Given the description of an element on the screen output the (x, y) to click on. 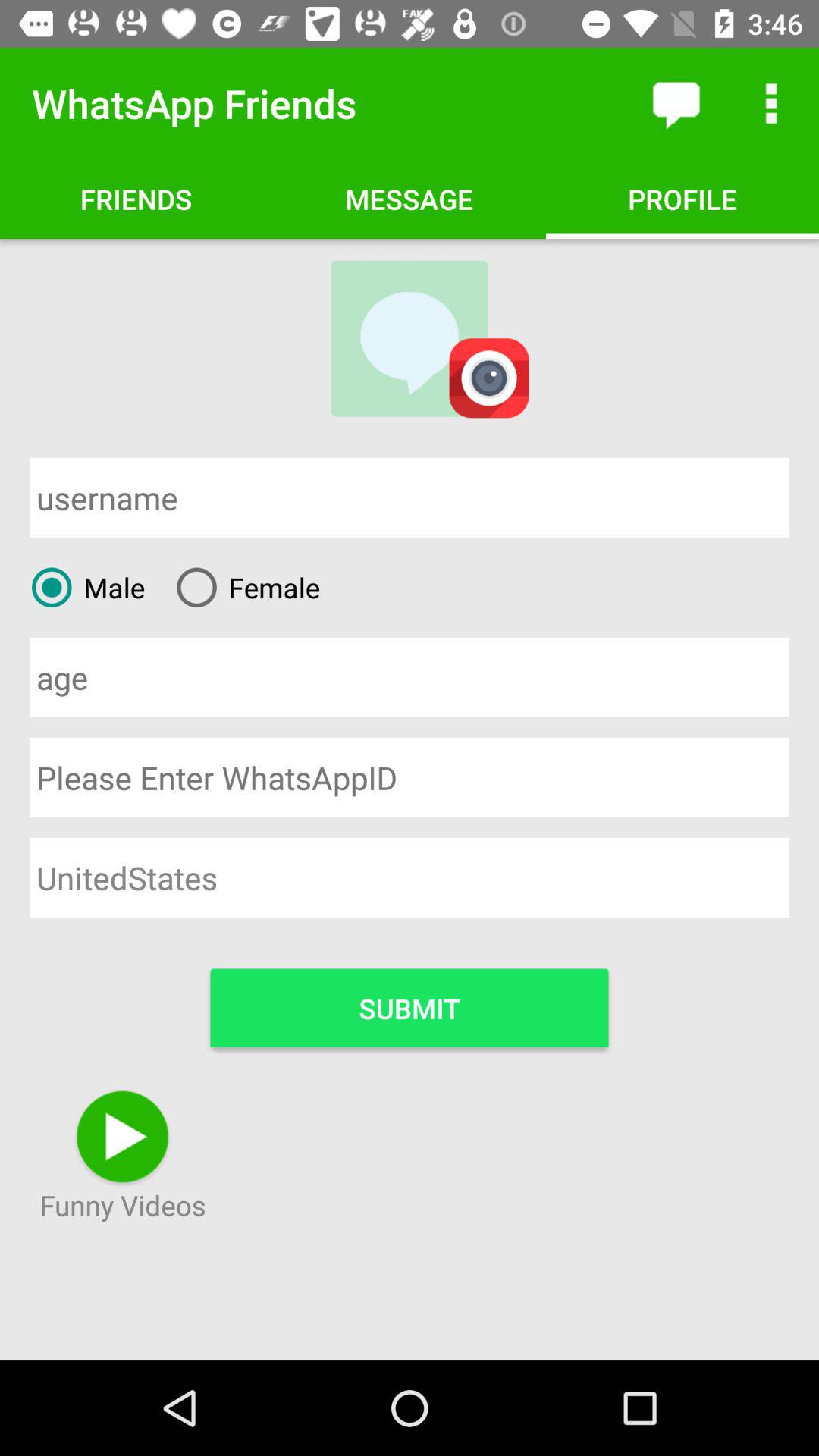
flip to the unitedstates (409, 877)
